Given the description of an element on the screen output the (x, y) to click on. 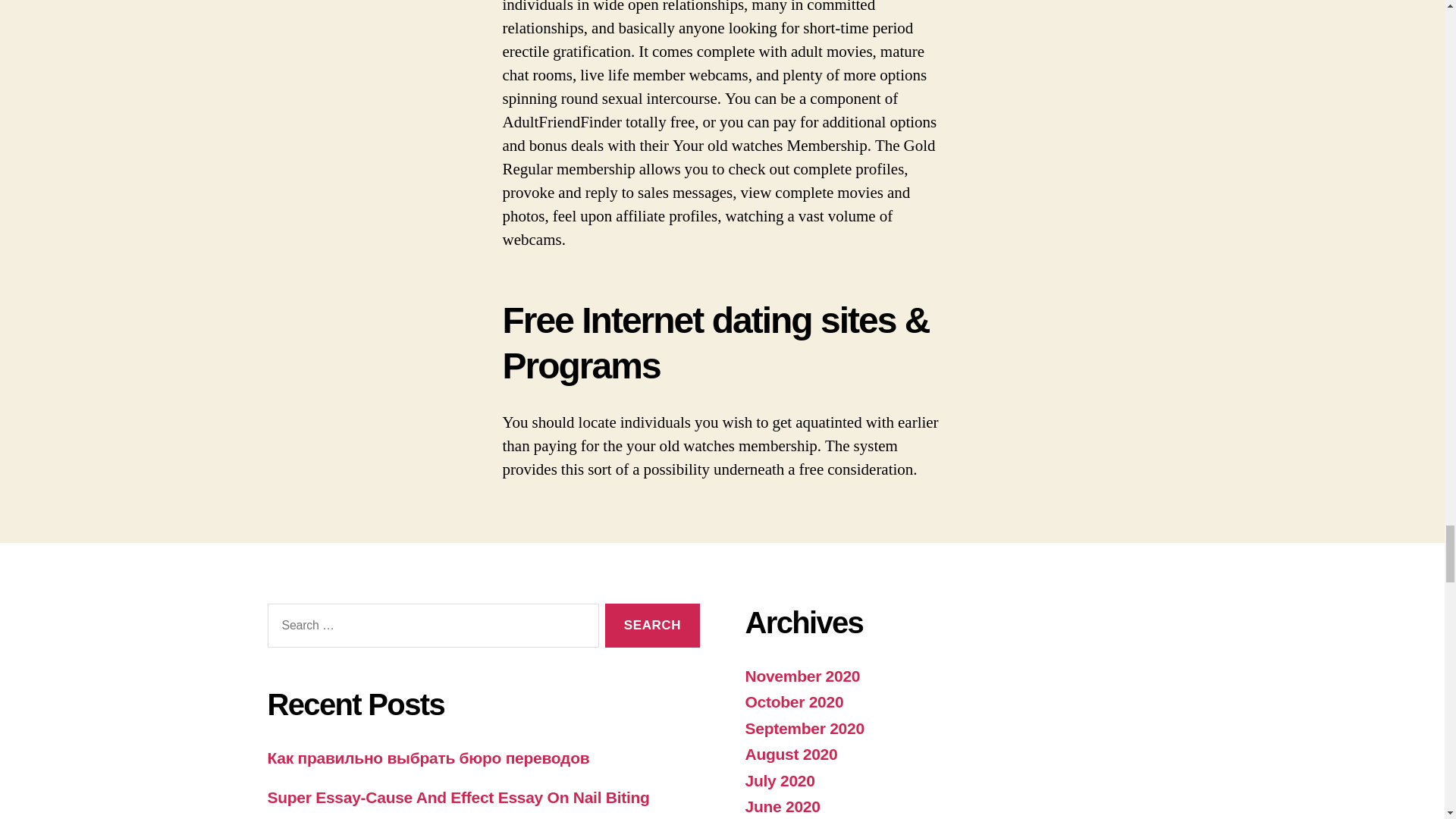
September 2020 (803, 727)
August 2020 (790, 753)
Search (651, 625)
Super Essay-Cause And Effect Essay On Nail Biting (457, 796)
November 2020 (802, 675)
Search (651, 625)
Search (651, 625)
June 2020 (781, 805)
October 2020 (793, 701)
July 2020 (778, 780)
